Given the description of an element on the screen output the (x, y) to click on. 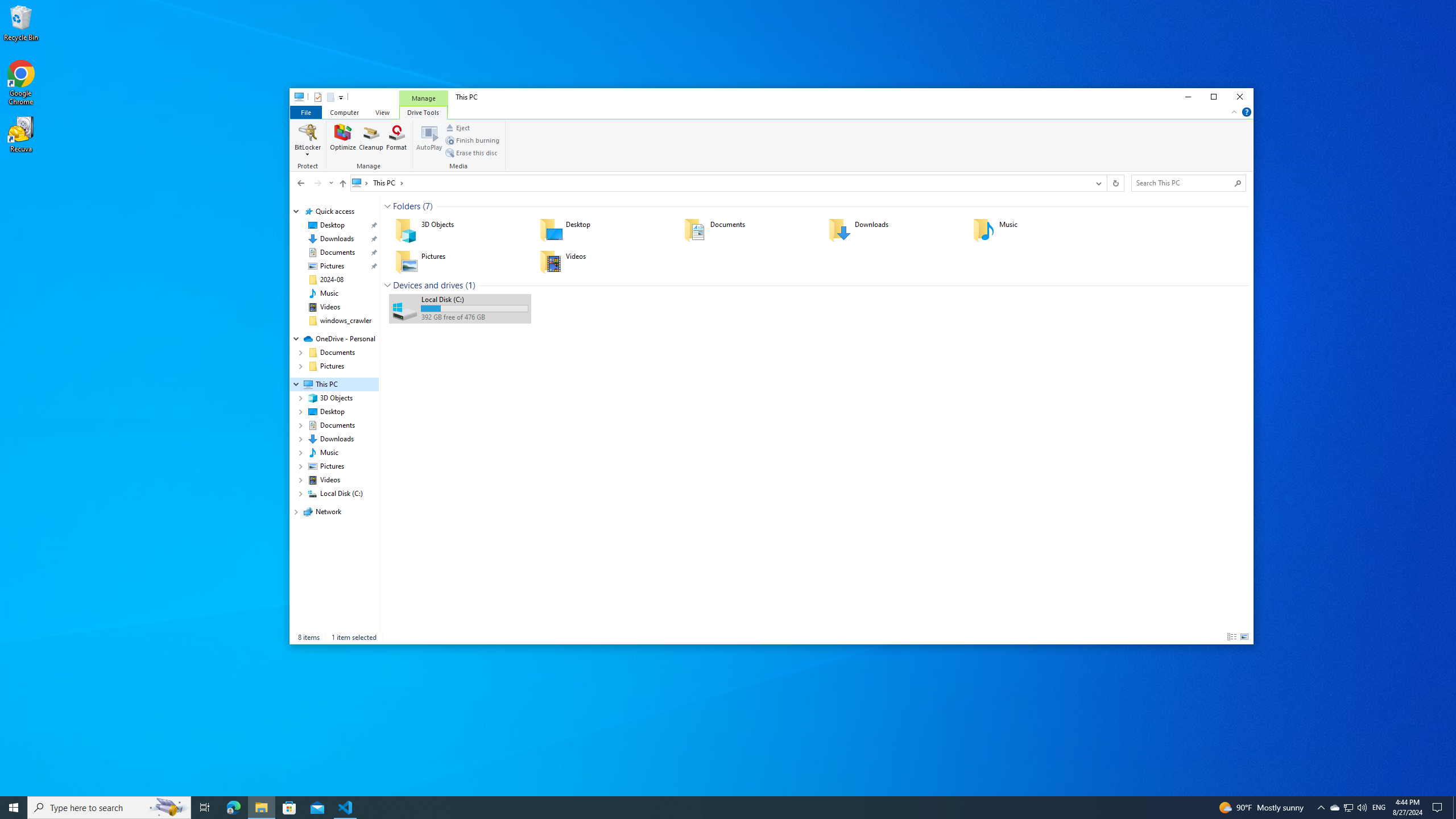
Recent locations (330, 182)
System (295, 98)
Format (396, 140)
Name (474, 299)
windows_crawler (345, 320)
Properties (317, 96)
This PC (388, 182)
Customize Quick Access Toolbar (341, 96)
Pictures (pinned) (331, 265)
3D Objects (459, 229)
